Given the description of an element on the screen output the (x, y) to click on. 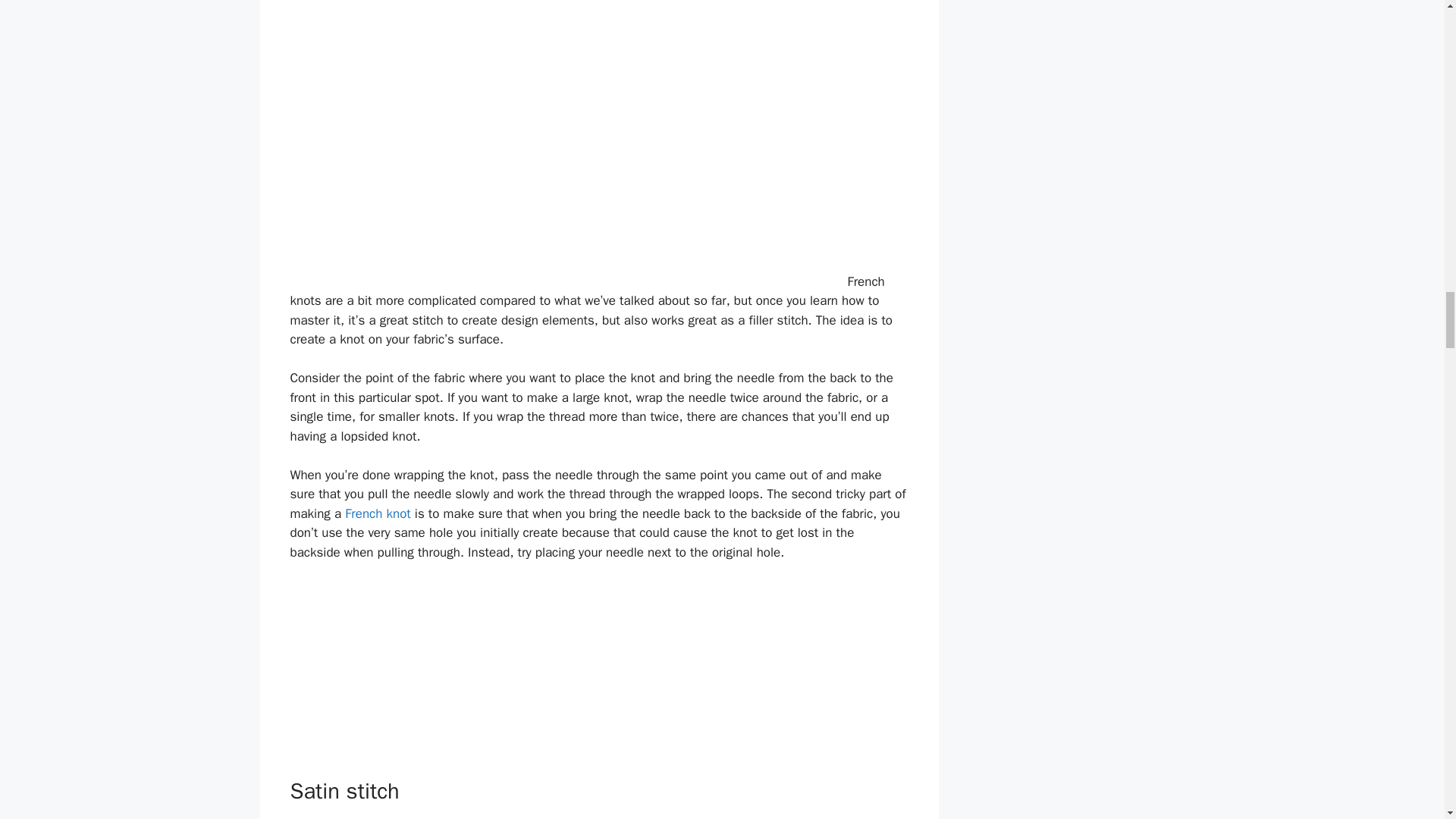
French knot (377, 513)
